Given the description of an element on the screen output the (x, y) to click on. 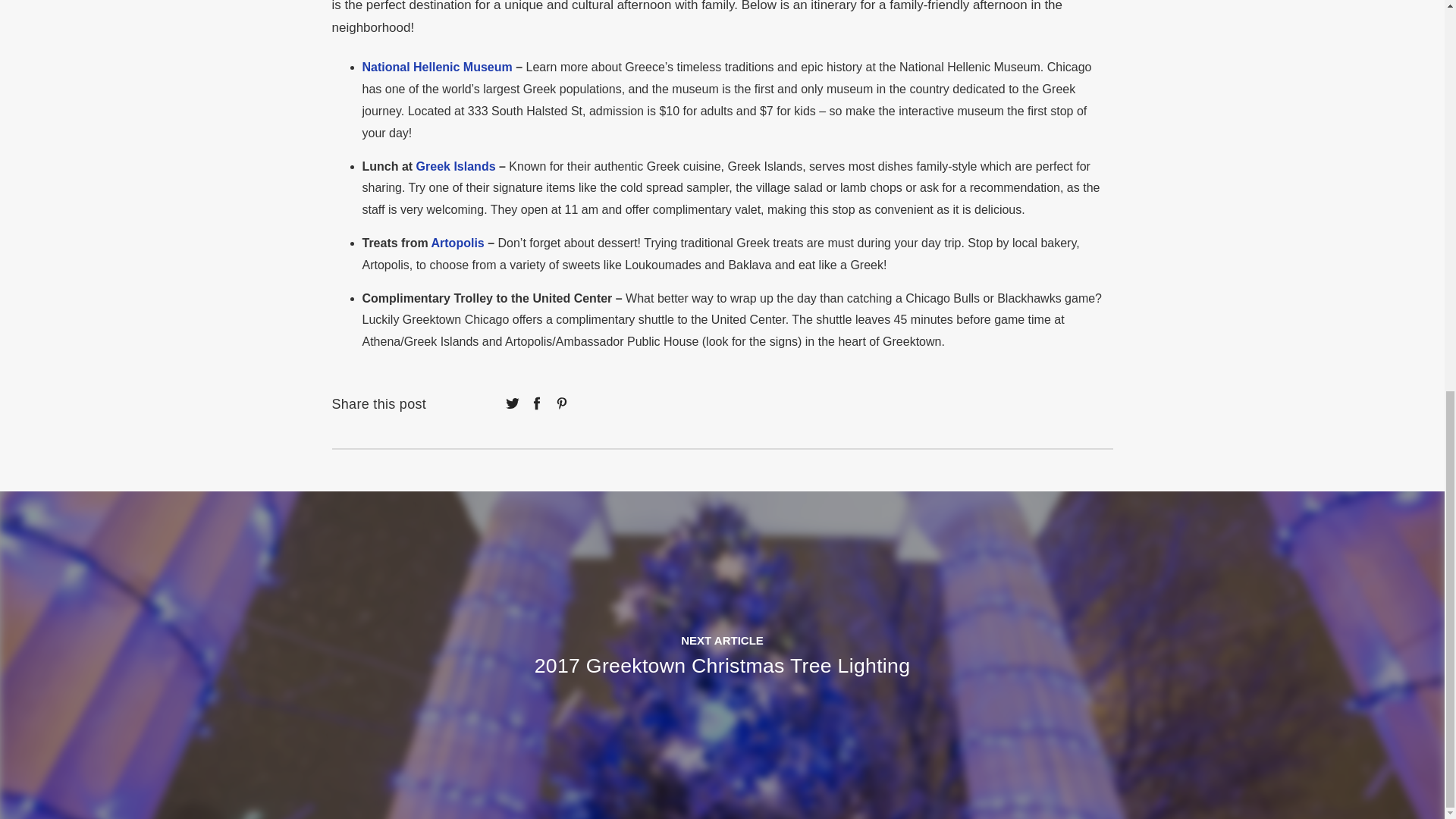
Artopolis (456, 242)
National Hellenic Museum (437, 66)
Greek Islands (456, 165)
